Given the description of an element on the screen output the (x, y) to click on. 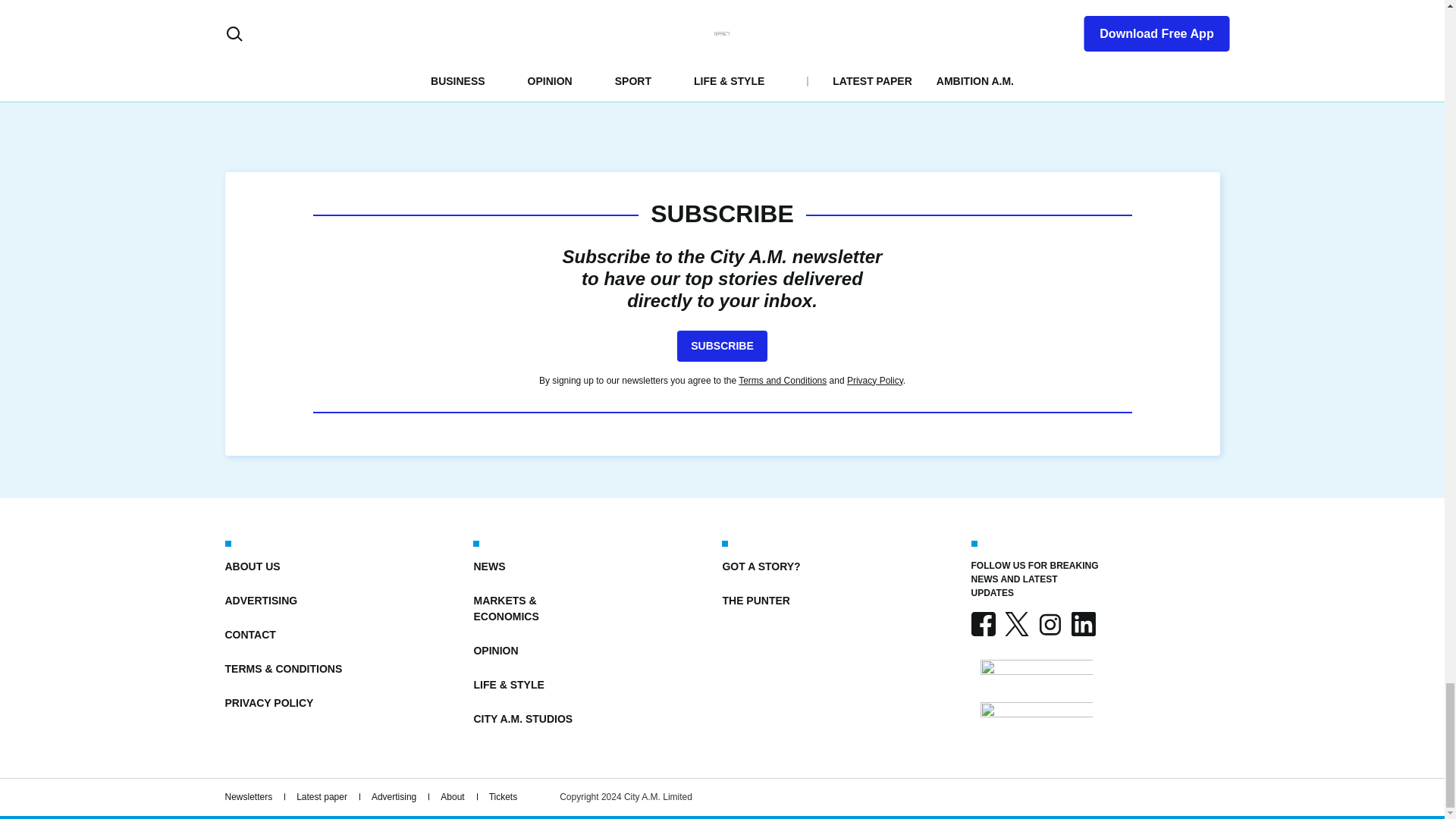
LINKEDIN (1082, 623)
X (1015, 623)
INSTAGRAM (1048, 623)
FACEBOOK (982, 623)
